Given the description of an element on the screen output the (x, y) to click on. 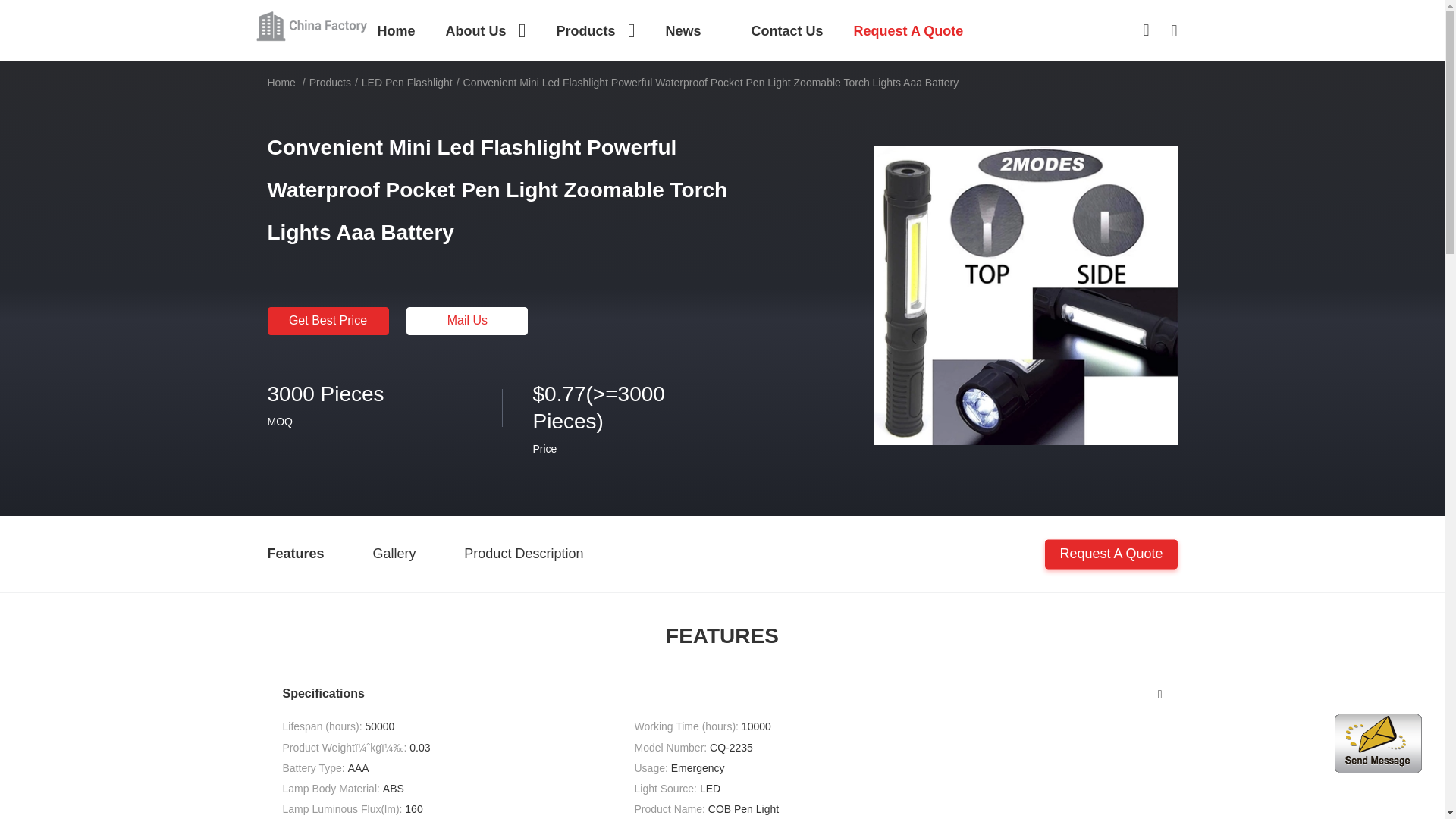
Products (595, 30)
Request A Quote (908, 30)
Contact Us (787, 30)
Guangzhou Led Flashlight Technology Co. Ltd (312, 24)
News (692, 30)
About Us (485, 30)
About Us (485, 30)
Products (595, 30)
